Given the description of an element on the screen output the (x, y) to click on. 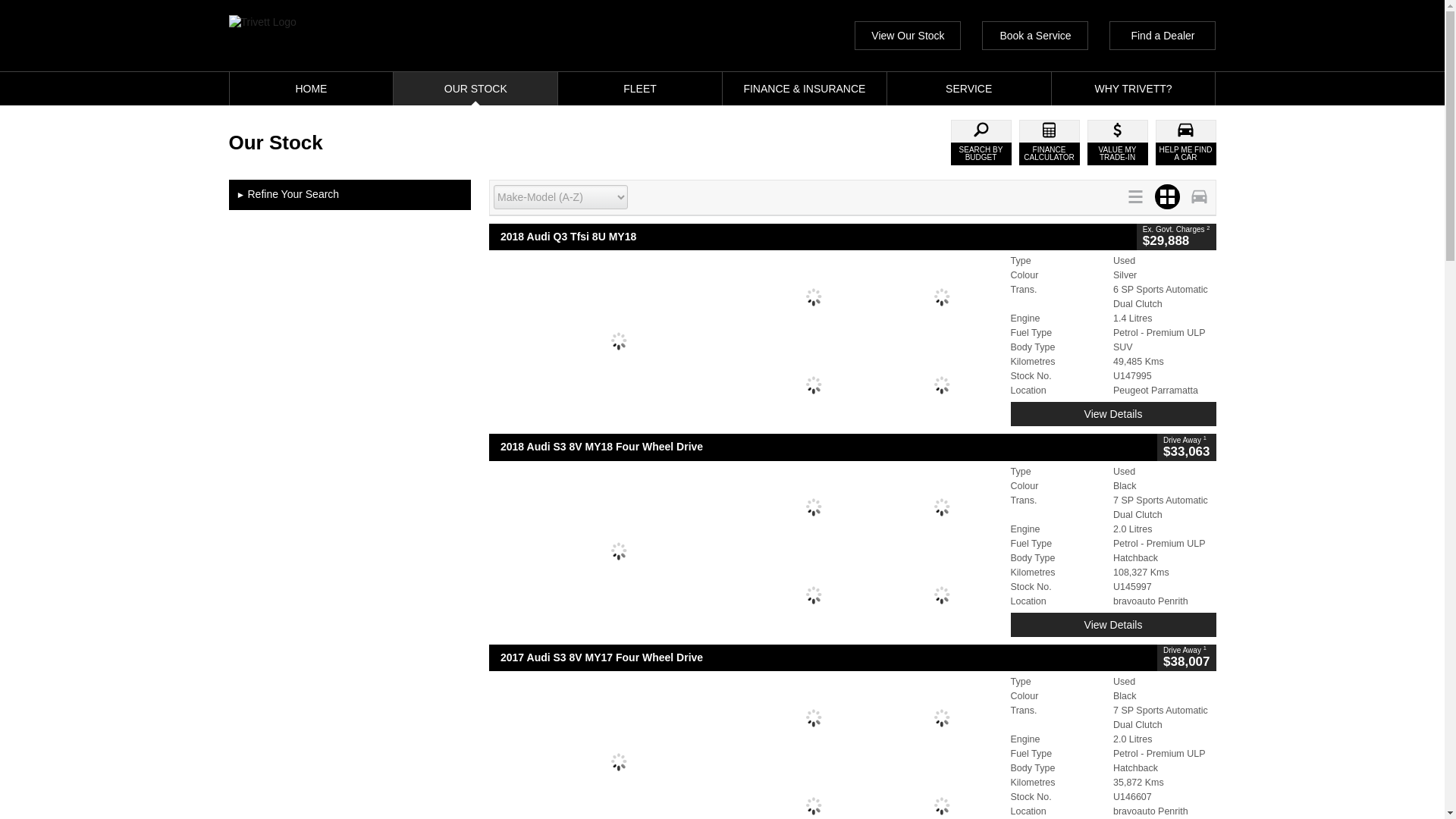
View Our Stock (907, 35)
SERVICE (968, 88)
2018 Audi Q3 TFSI 8U MY18 Silver (746, 339)
Service (968, 88)
SEARCH BY BUDGET (980, 142)
Fleet (639, 88)
WHY TRIVETT? (1133, 88)
Book a Service (1034, 35)
Our Stock (475, 88)
2018 Audi Q3 Tfsi 8U MY18 (813, 236)
FLEET (639, 88)
HOME (310, 88)
Why Trivett? (1133, 88)
2018 Audi S3  8V MY18 Four Wheel Drive (823, 447)
OUR STOCK (475, 88)
